Given the description of an element on the screen output the (x, y) to click on. 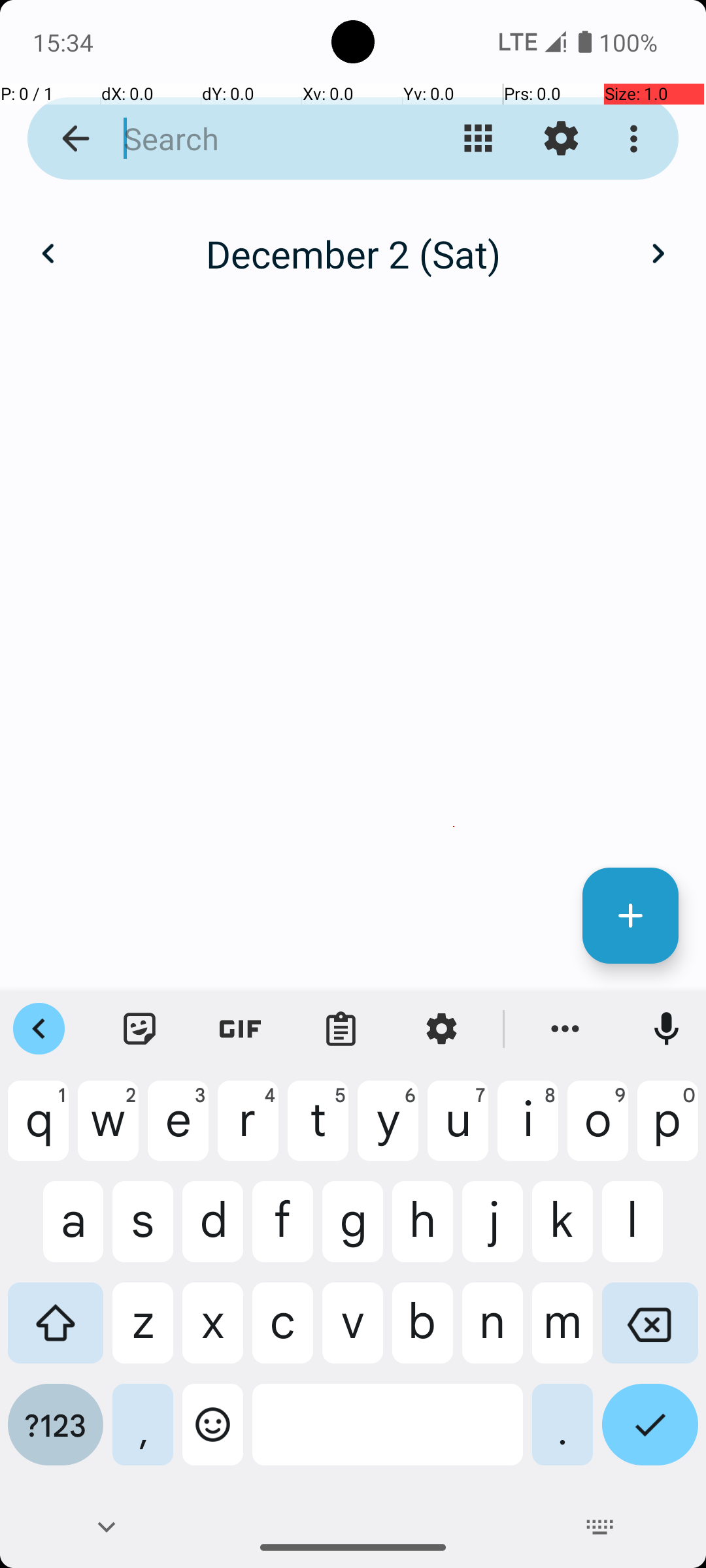
December Element type: android.widget.TextView (352, 239)
December 2 (Sat) Element type: android.widget.TextView (352, 253)
